Given the description of an element on the screen output the (x, y) to click on. 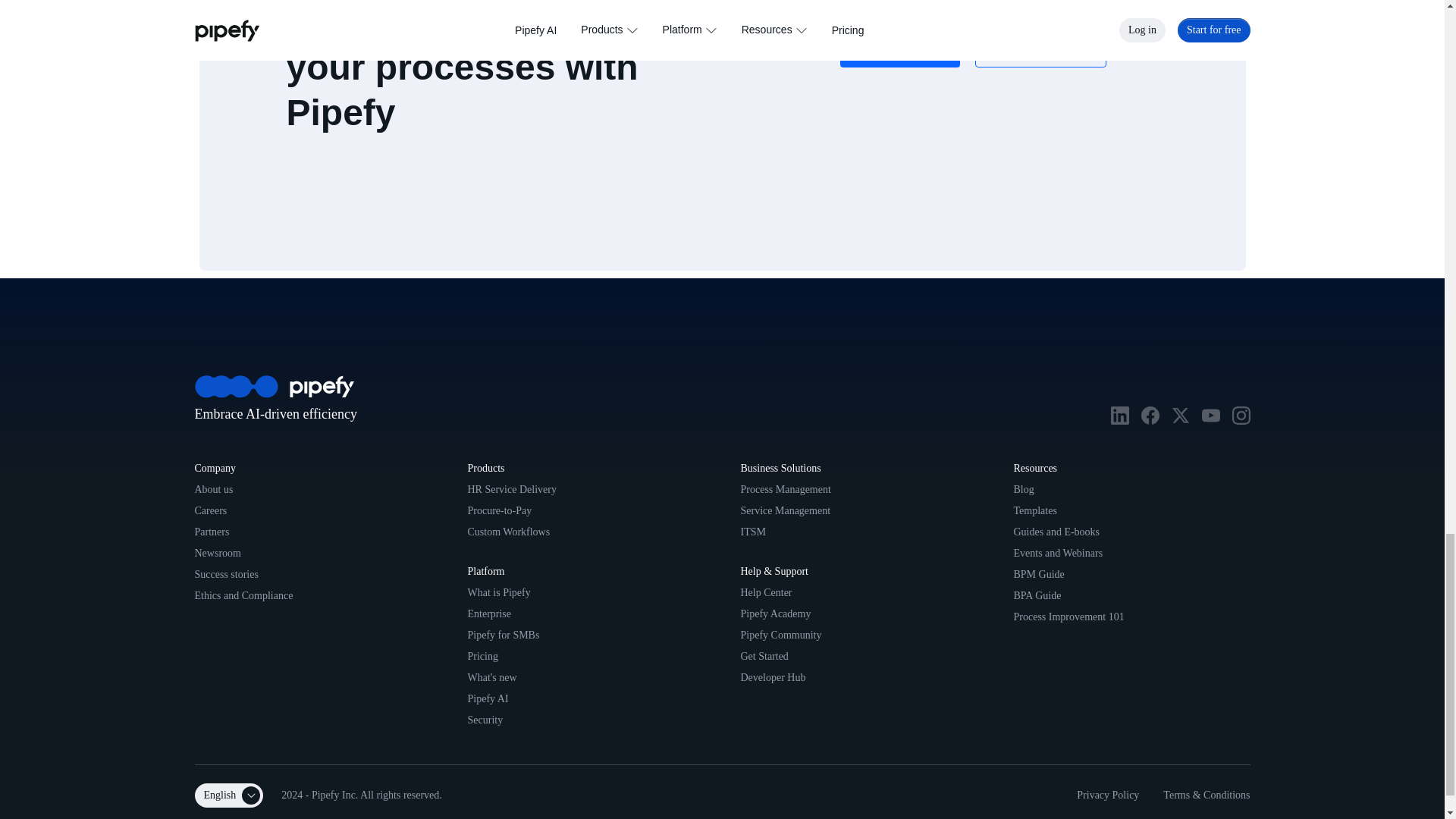
About us (212, 489)
Careers (210, 510)
Partners (210, 531)
Request a demo (1040, 48)
Try Pipefy free (899, 48)
